Given the description of an element on the screen output the (x, y) to click on. 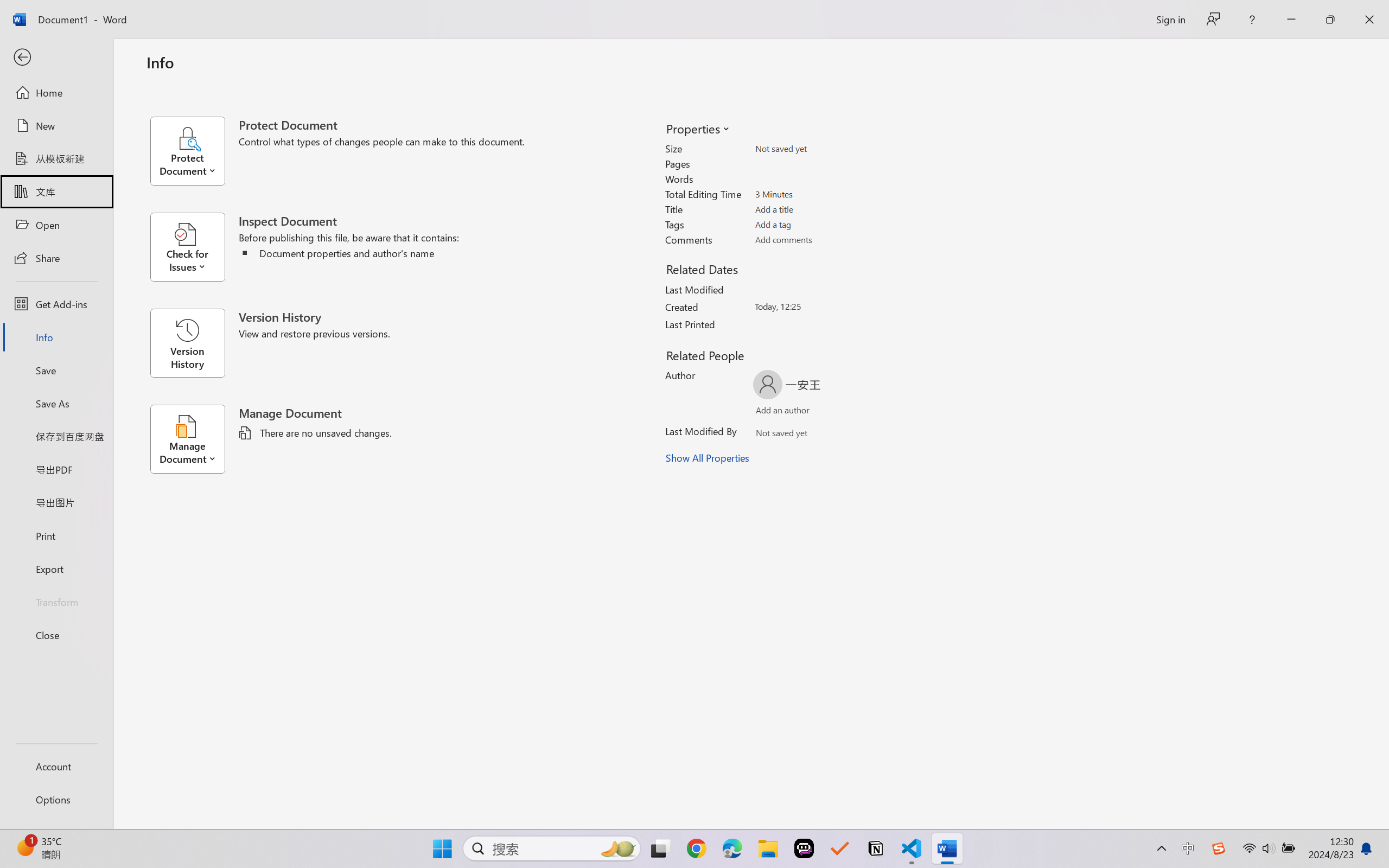
Not saved yet (772, 434)
Show All Properties (707, 457)
Size (818, 148)
Add an author (772, 411)
